Given the description of an element on the screen output the (x, y) to click on. 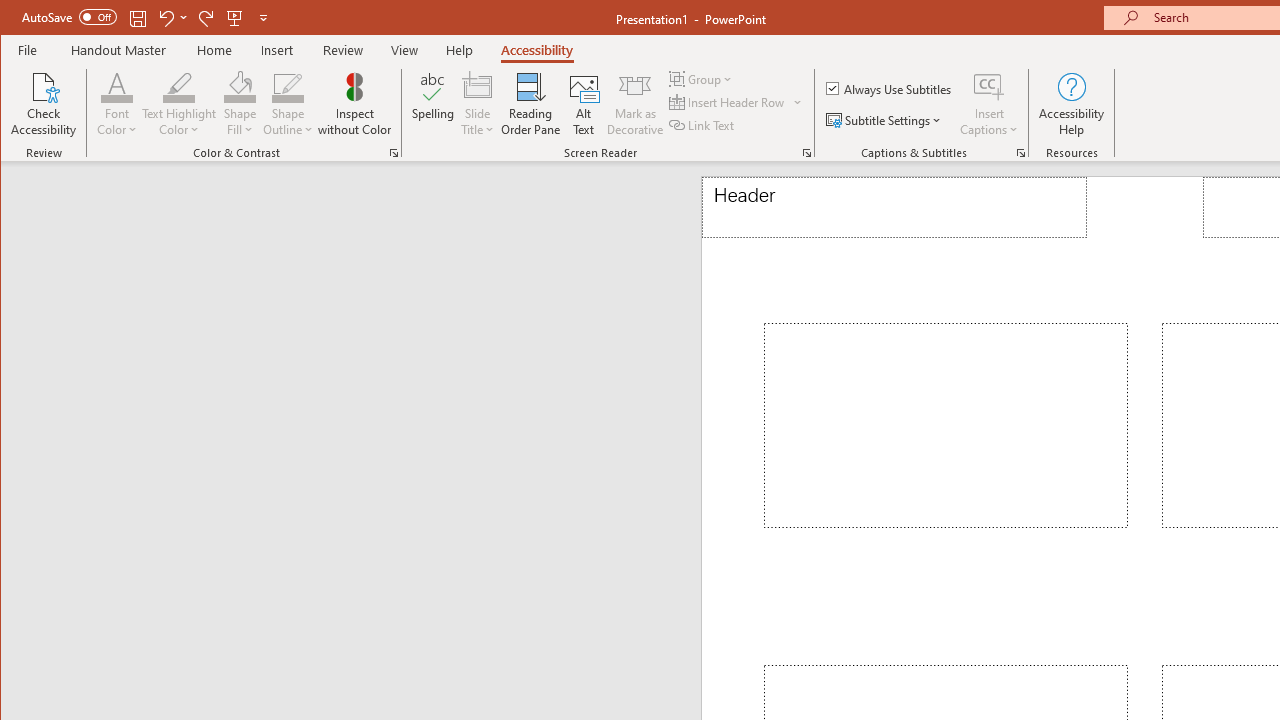
Screen Reader (806, 152)
Reading Order Pane (531, 104)
Header (893, 207)
Always Use Subtitles (890, 88)
